Given the description of an element on the screen output the (x, y) to click on. 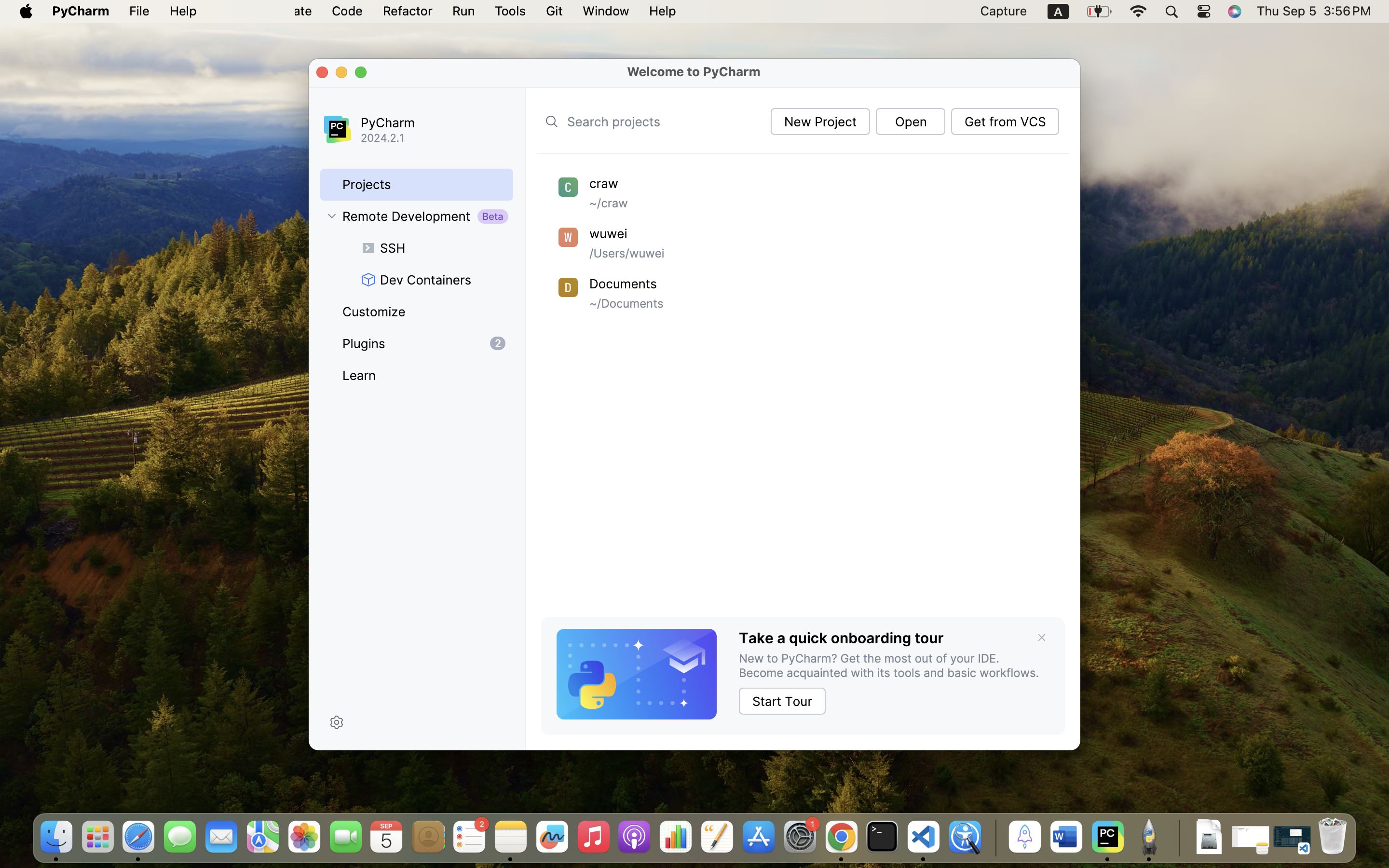
Welcome to PyCharm Element type: AXStaticText (693, 71)
2024.2.1 Element type: AXStaticText (437, 137)
0.4285714328289032 Element type: AXDockItem (993, 837)
